Given the description of an element on the screen output the (x, y) to click on. 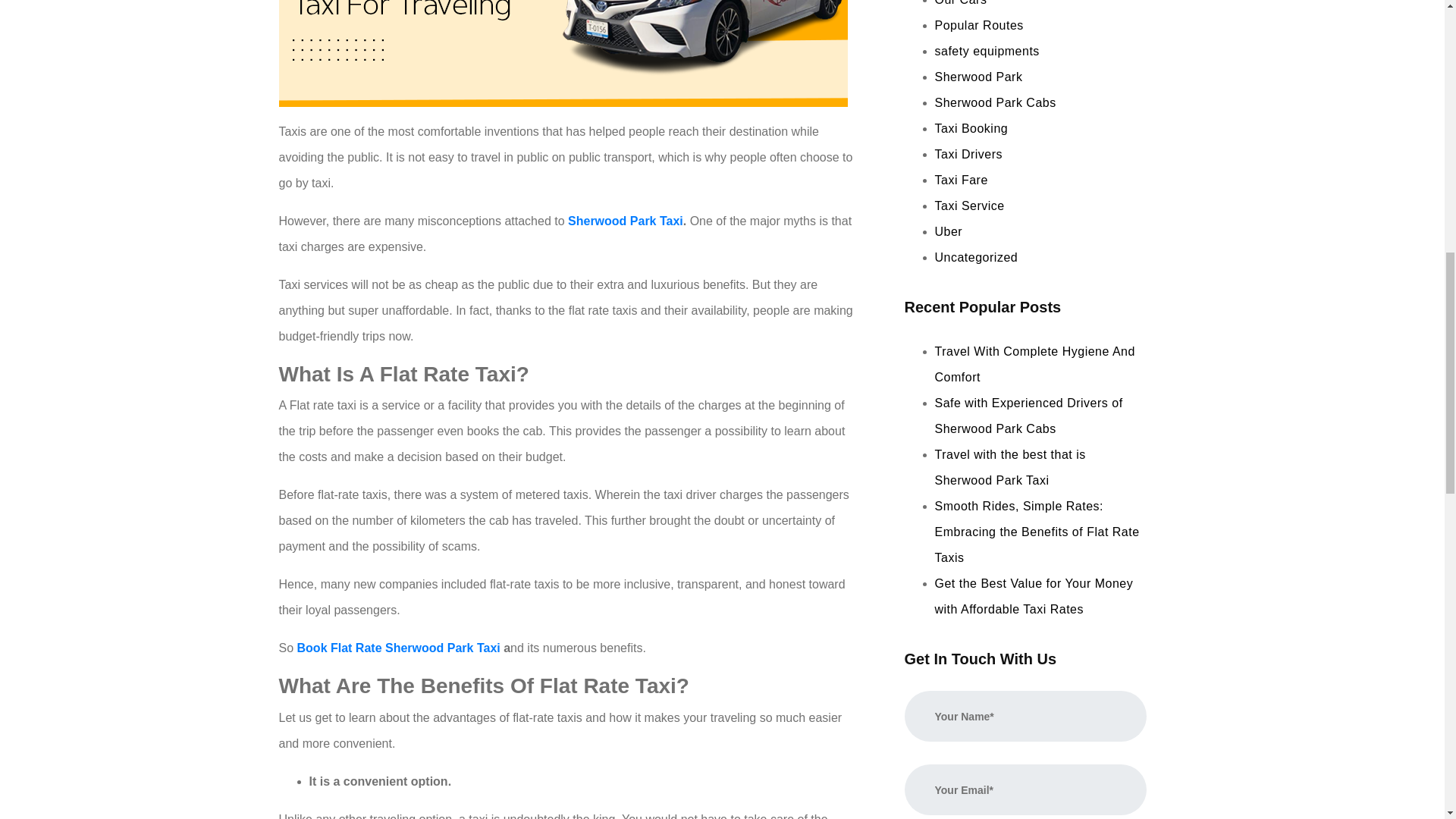
Popular Routes (978, 24)
Taxi Service (969, 205)
Taxi Fare (960, 179)
safety equipments (986, 51)
Sherwood Park (978, 76)
Sherwood Park Taxi (624, 220)
Taxi Drivers (968, 154)
Taxi Booking (970, 128)
Sherwood Park Cabs (994, 102)
Book Flat Rate Sherwood Park Taxi (397, 647)
